Given the description of an element on the screen output the (x, y) to click on. 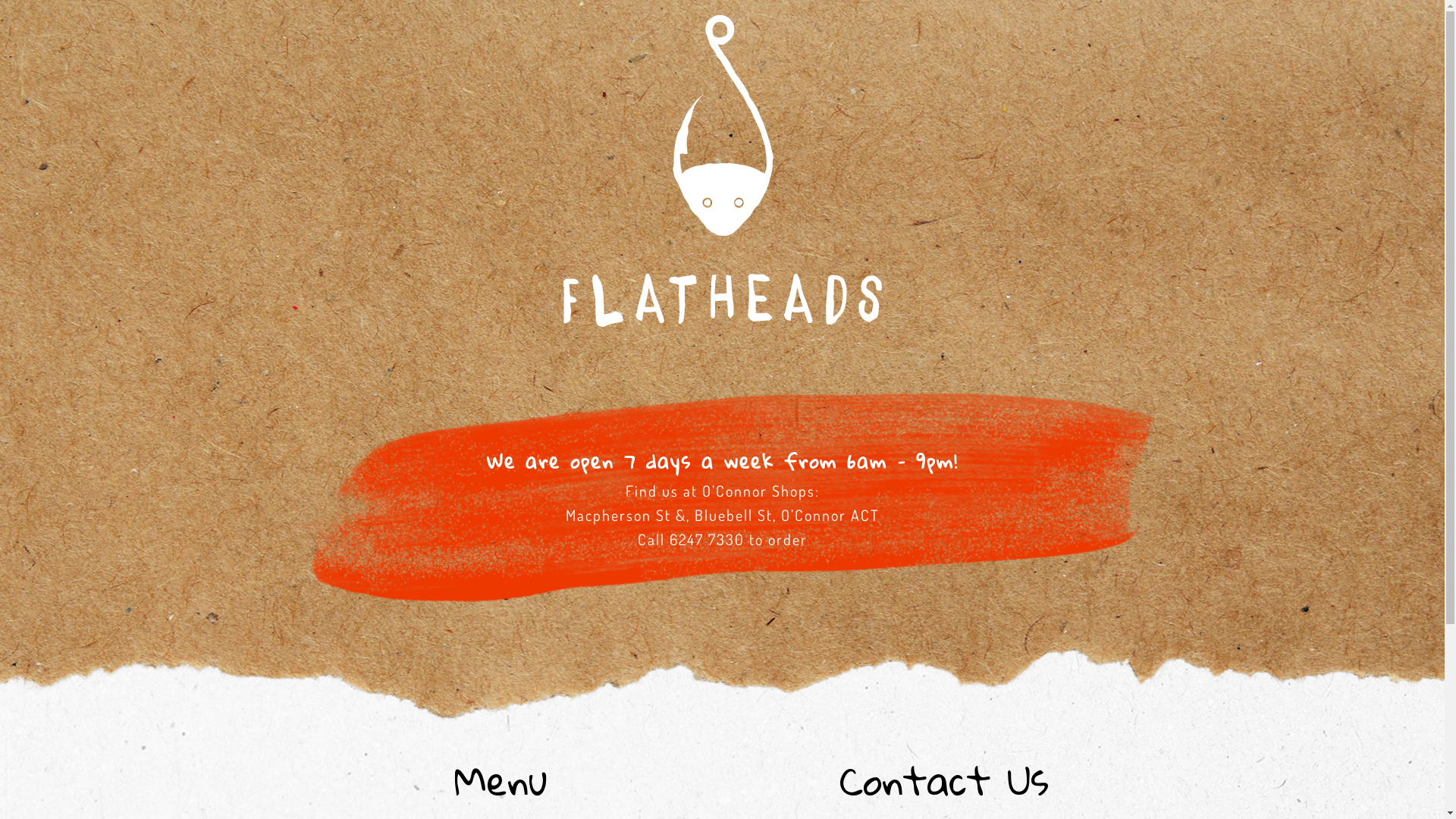
Call 6247 7330 Element type: text (690, 539)
